Given the description of an element on the screen output the (x, y) to click on. 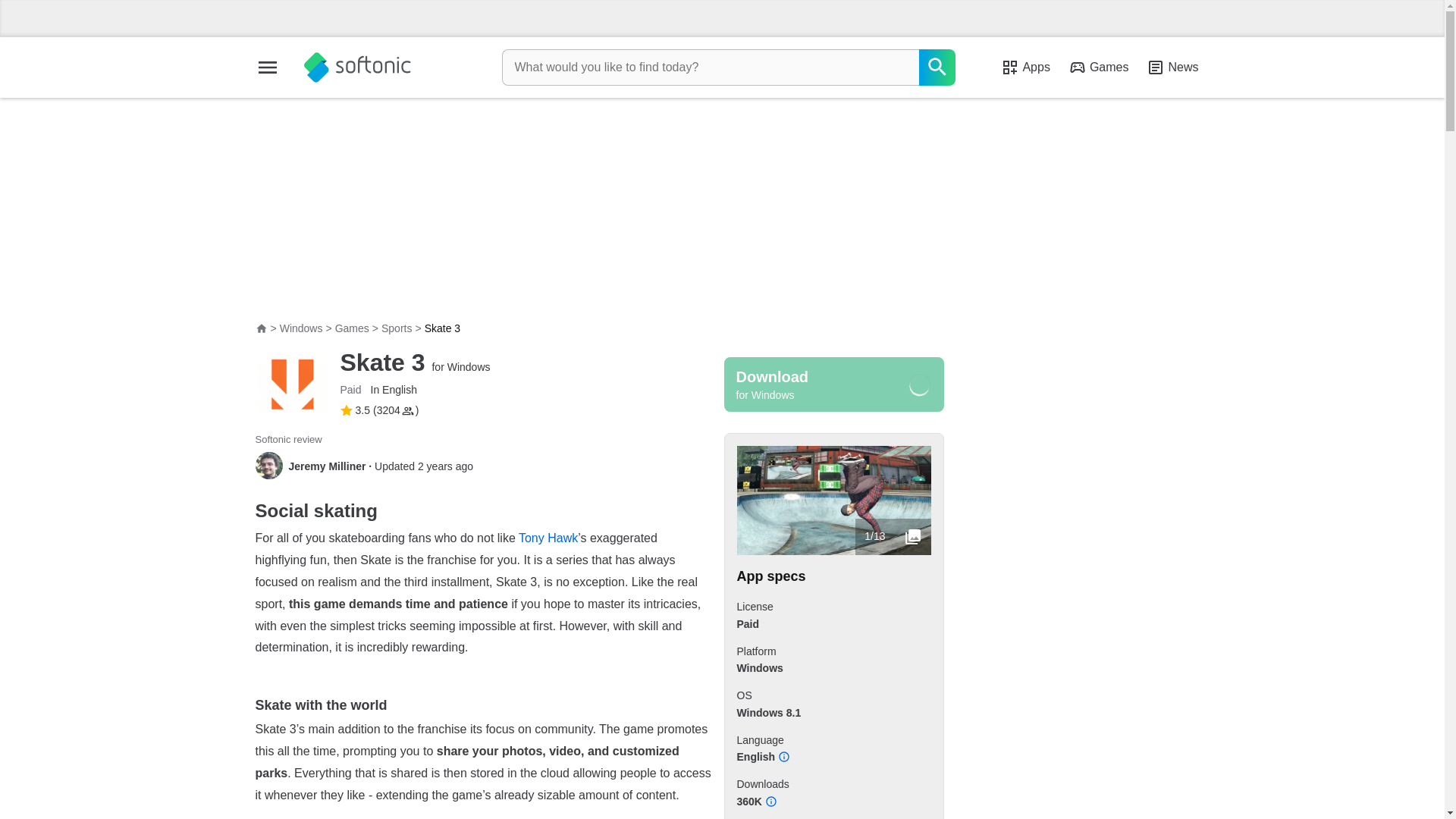
Softonic (356, 67)
Windows (301, 328)
